Given the description of an element on the screen output the (x, y) to click on. 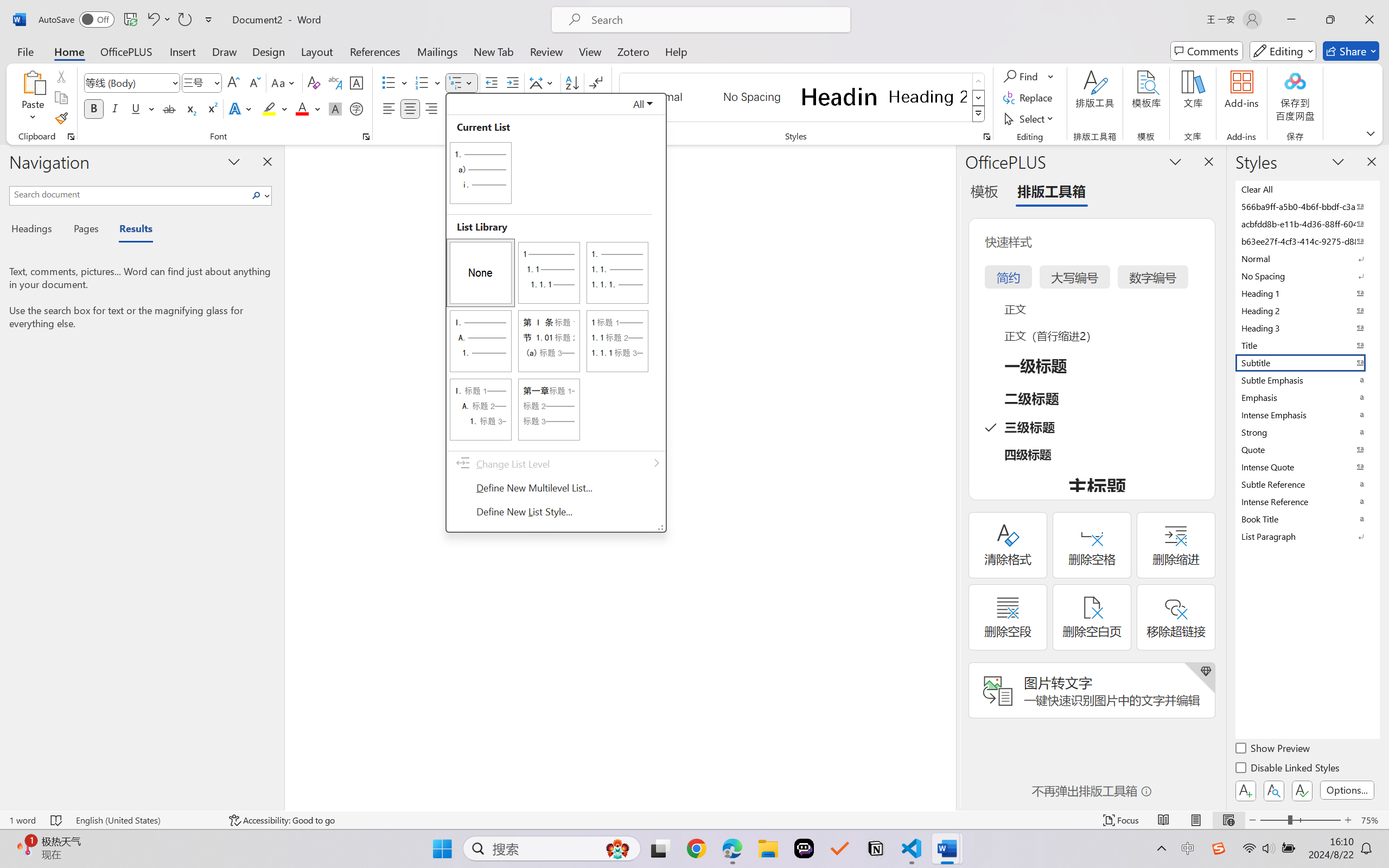
Font Color (308, 108)
Find (1022, 75)
Review (546, 51)
References (375, 51)
Help (675, 51)
Customize Quick Access Toolbar (208, 19)
Copy (60, 97)
Focus  (1121, 819)
Word Count 1 word (21, 819)
Heading 2 (927, 96)
Row Down (978, 97)
